Given the description of an element on the screen output the (x, y) to click on. 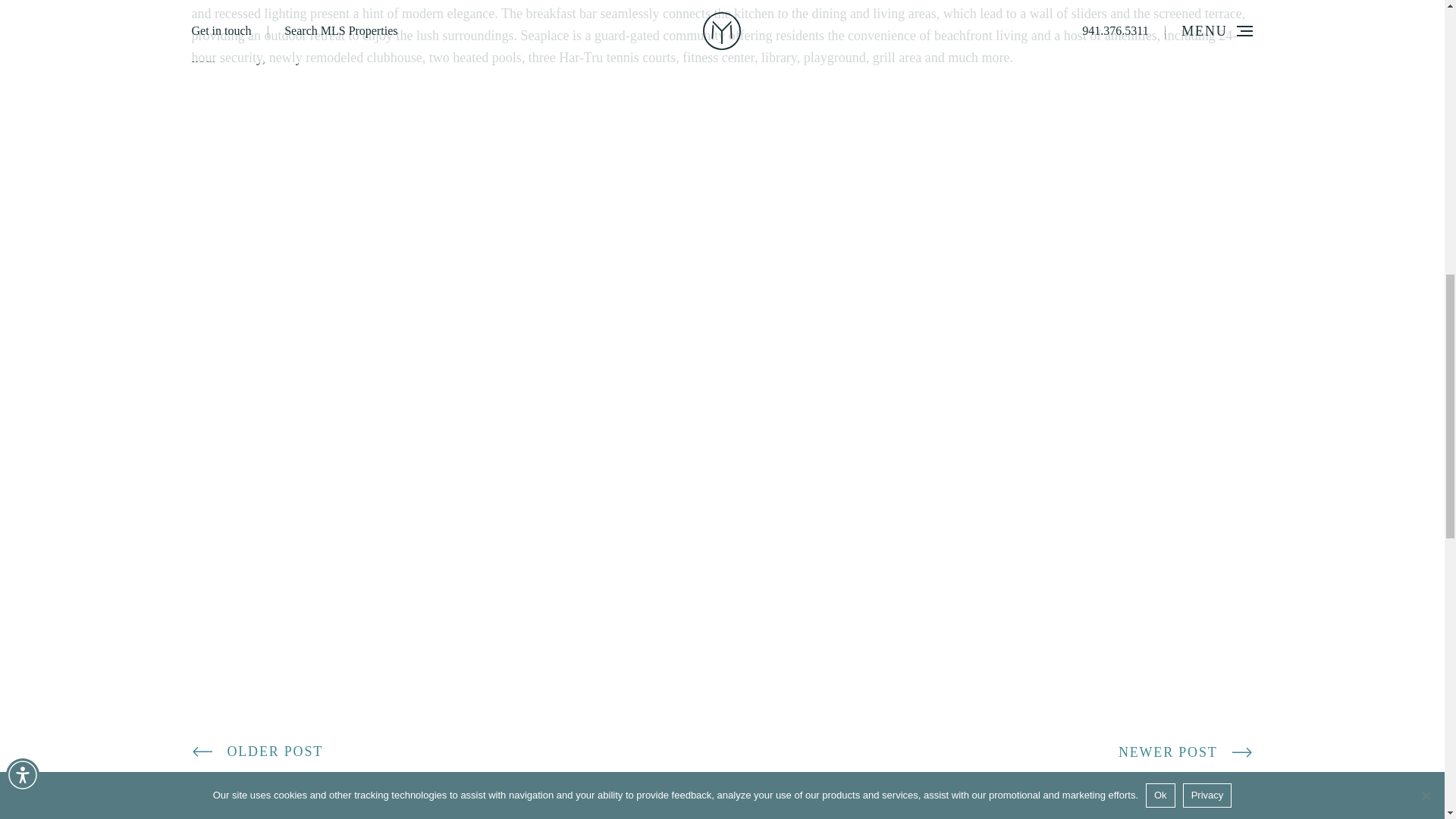
OLDER POST (256, 751)
NEWER POST (1185, 752)
